Given the description of an element on the screen output the (x, y) to click on. 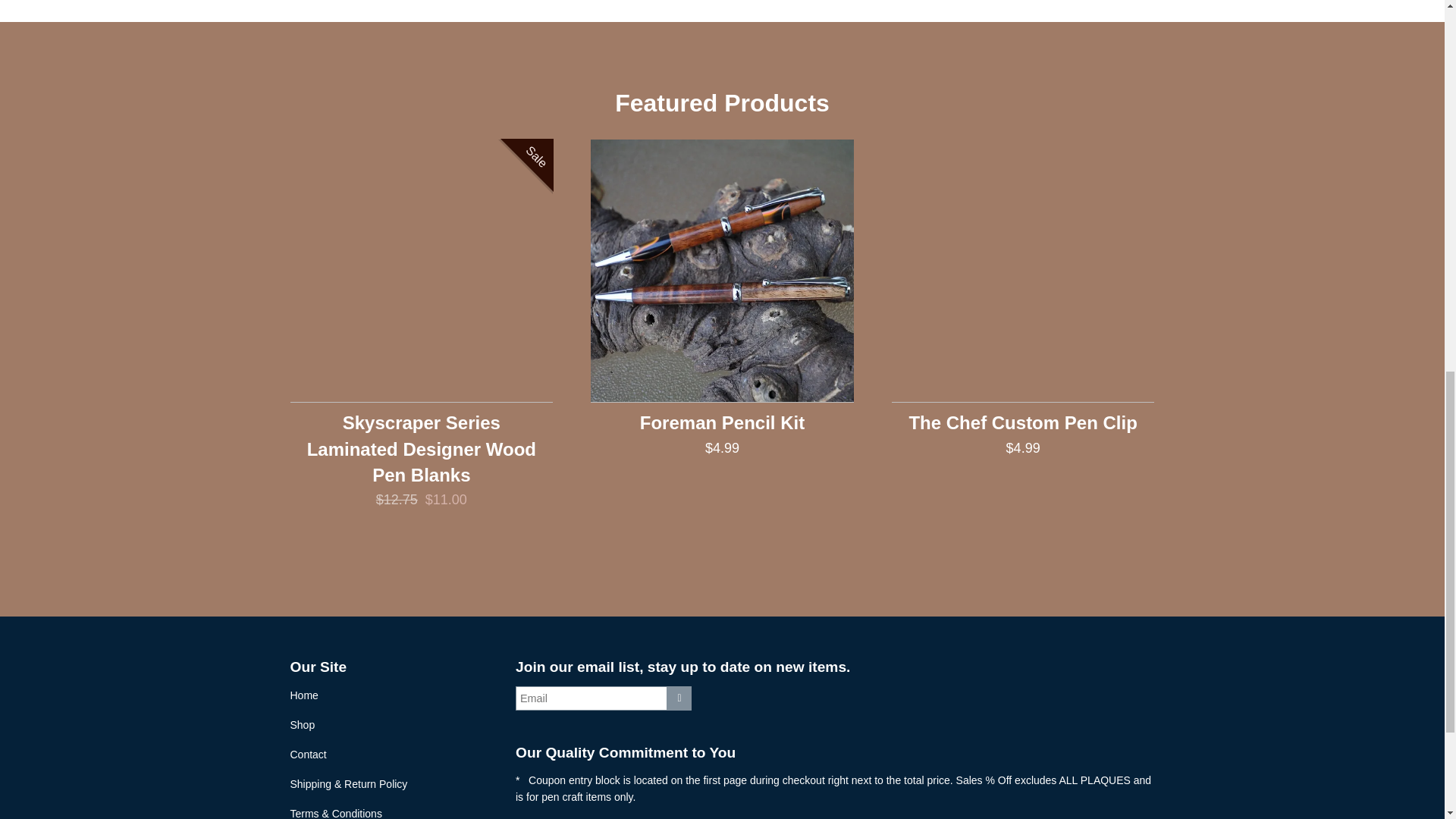
Contact (307, 754)
Shop (301, 725)
Home (303, 695)
